Given the description of an element on the screen output the (x, y) to click on. 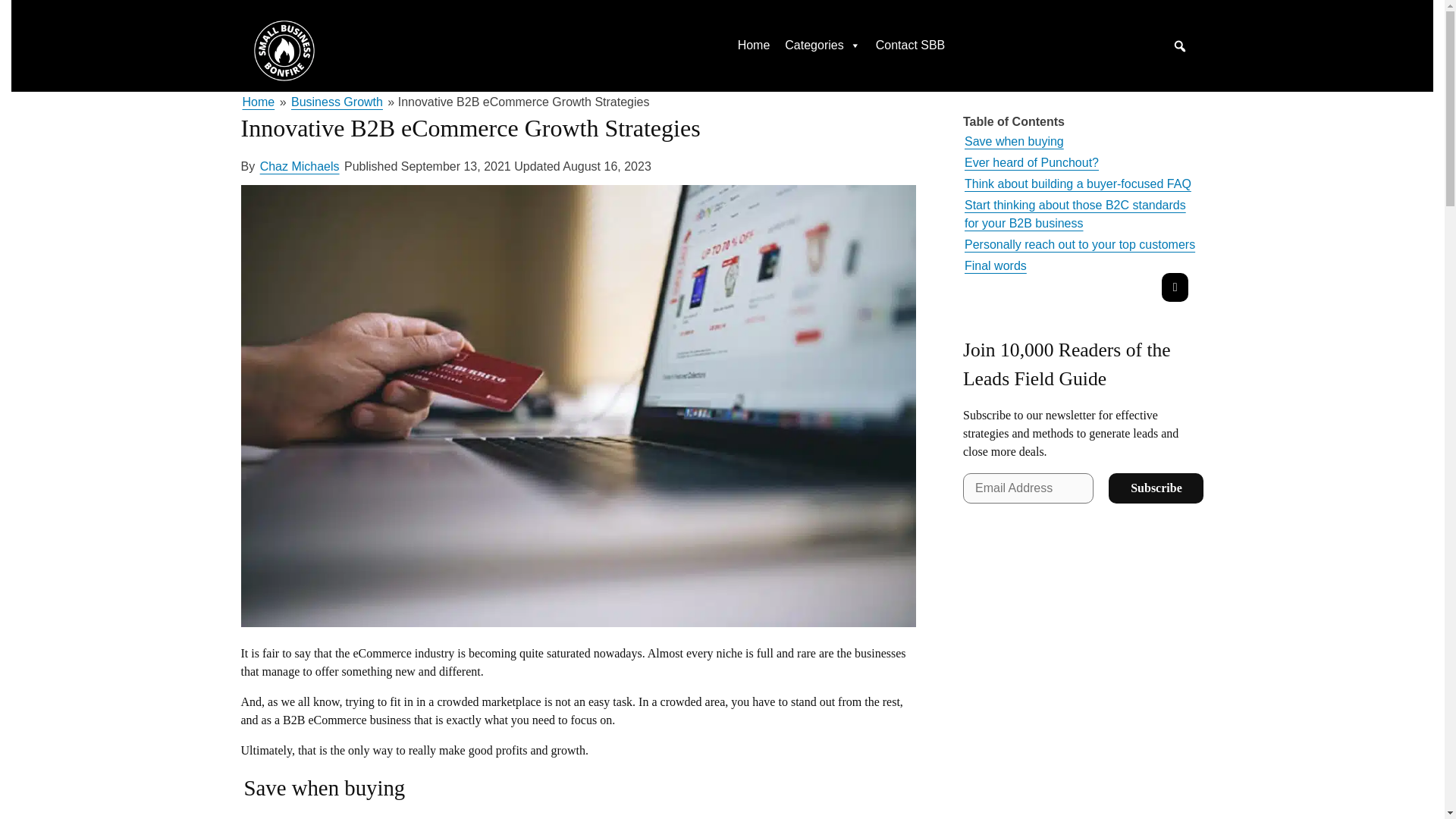
Chaz Michaels (299, 166)
Think about building a buyer-focused FAQ (1077, 183)
Show all headings (1175, 287)
Save when buying (1013, 141)
Business Growth (336, 102)
Categories (822, 45)
Final words (994, 265)
Personally reach out to your top customers (1079, 244)
Ever heard of Punchout? (1031, 162)
Home (258, 102)
Contact SBB (910, 45)
Go to the Business Growth Category archives. (336, 102)
Go to Small Business Bonfire. (258, 102)
Home (753, 45)
